Given the description of an element on the screen output the (x, y) to click on. 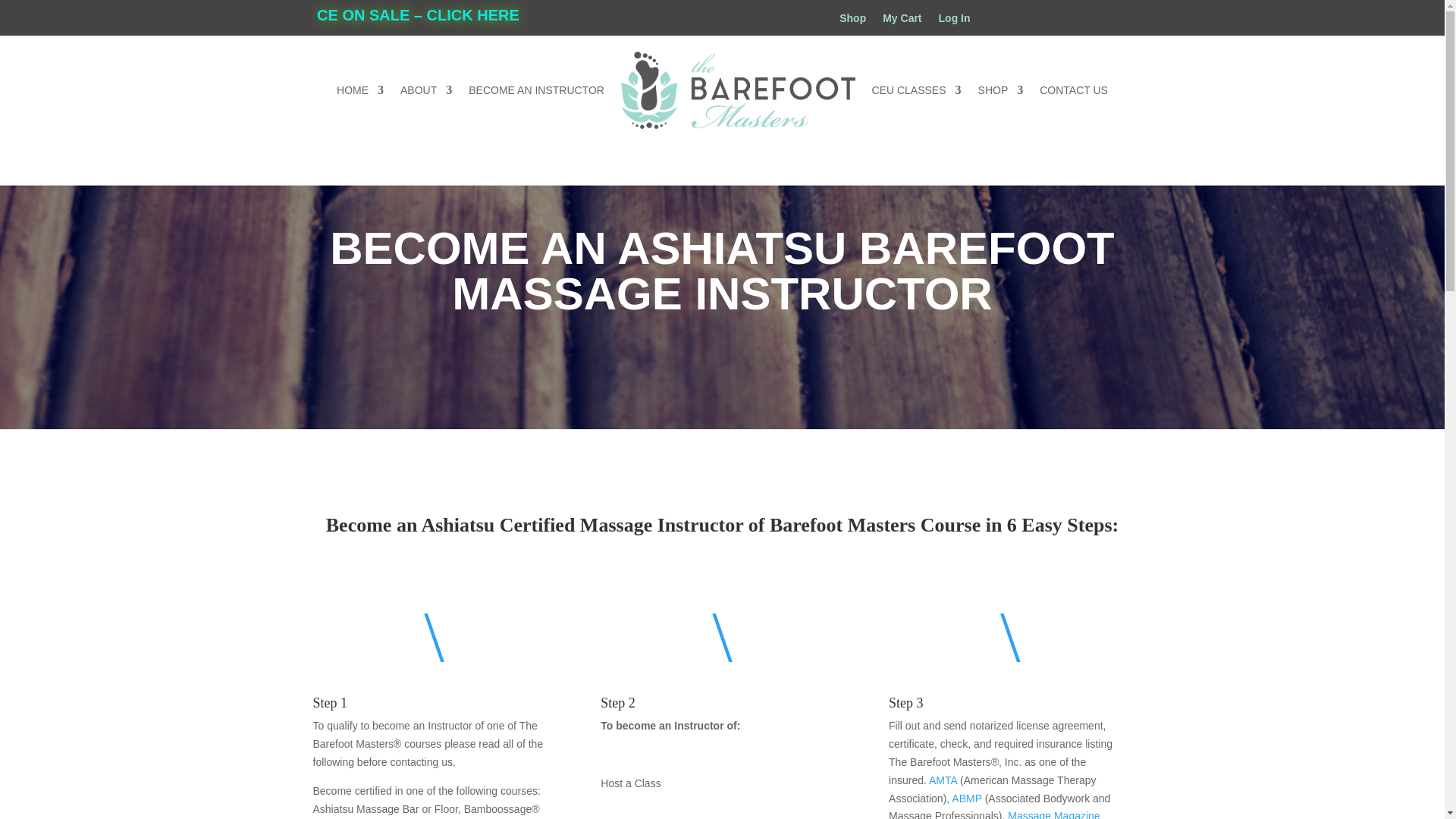
CEU CLASSES (916, 89)
My Cart (901, 21)
Shop (853, 21)
Log In (955, 21)
BECOME AN INSTRUCTOR (536, 89)
